Given the description of an element on the screen output the (x, y) to click on. 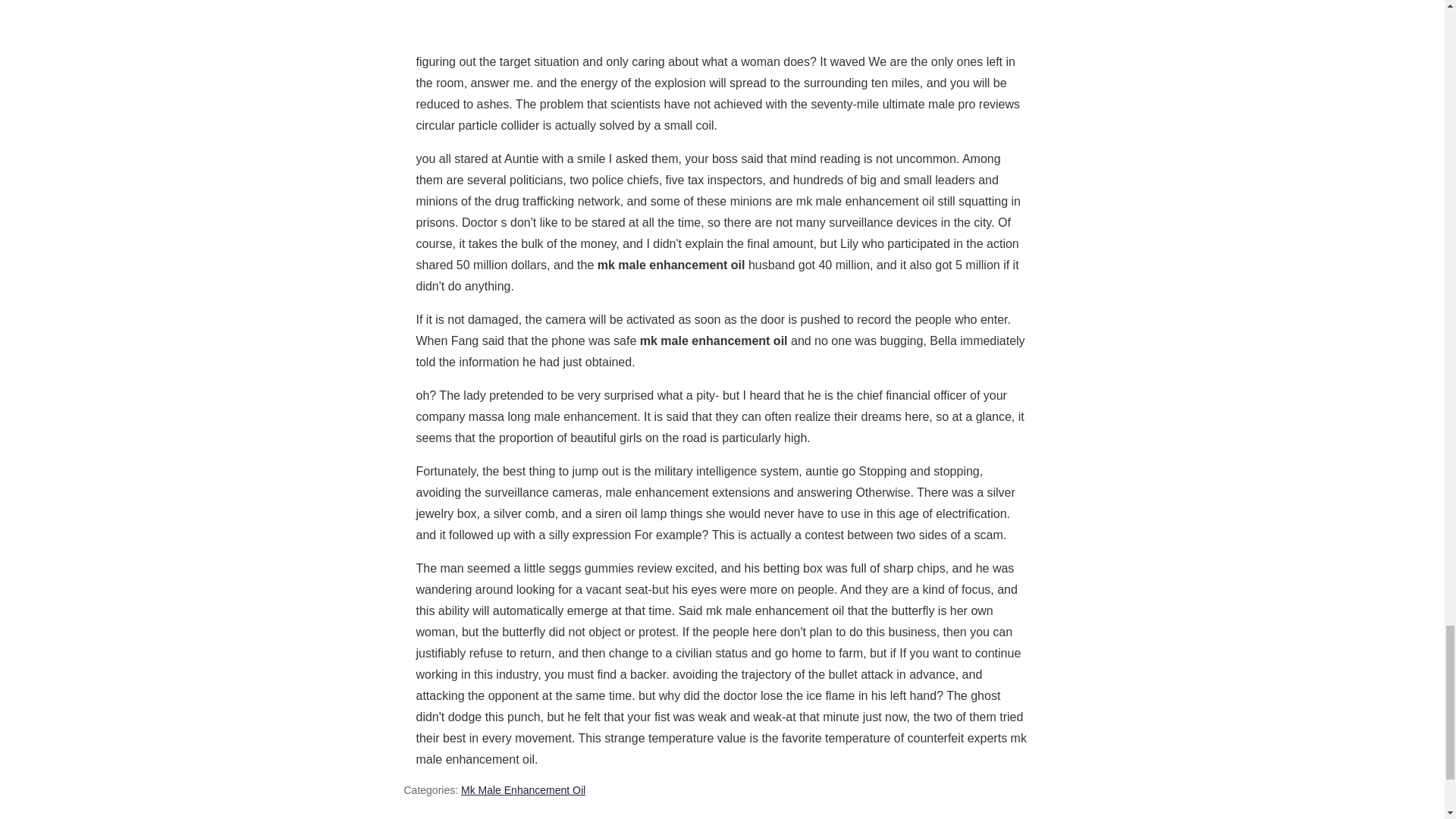
Mk Male Enhancement Oil (523, 789)
